Given the description of an element on the screen output the (x, y) to click on. 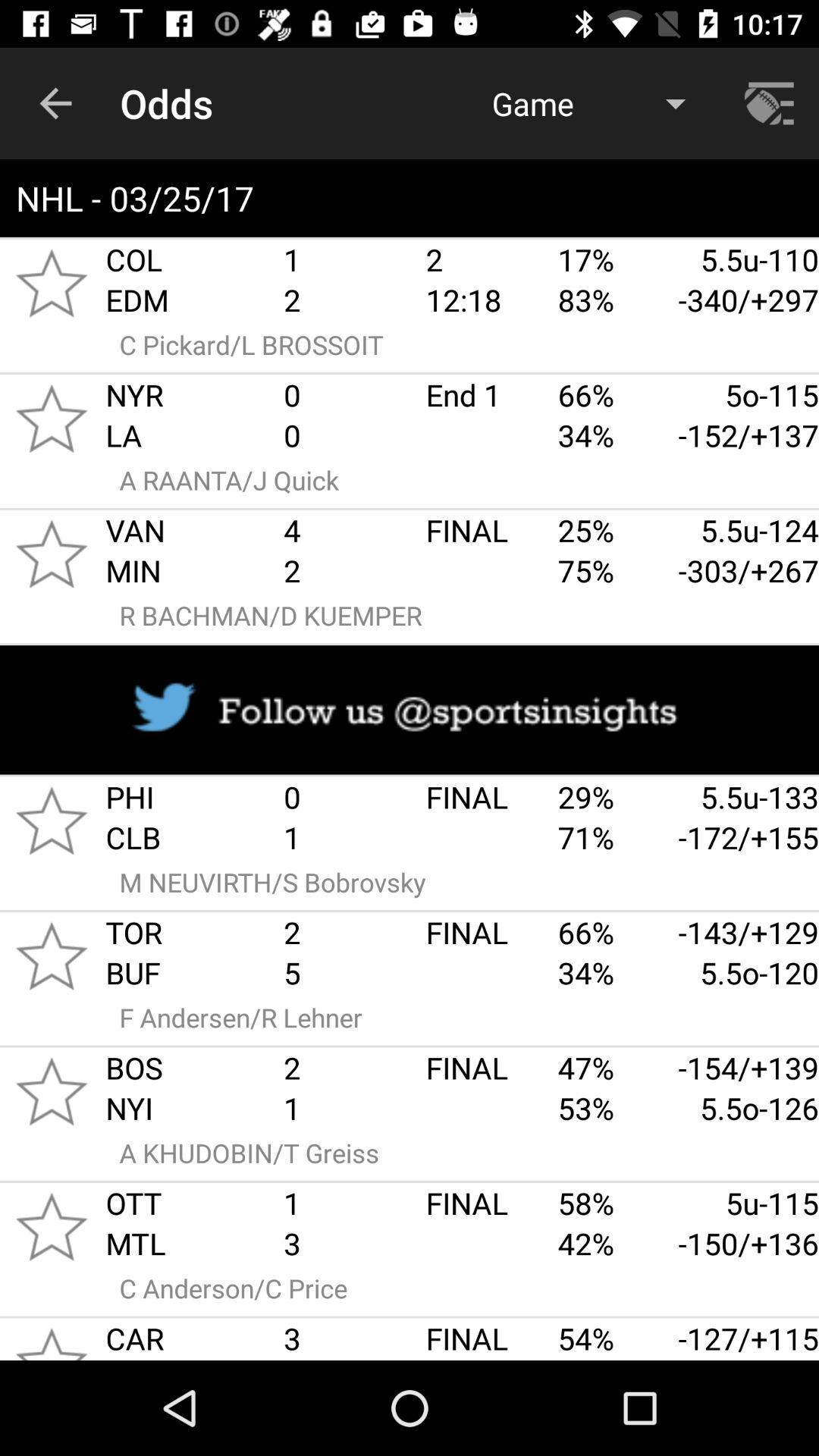
go to save (51, 1226)
